Given the description of an element on the screen output the (x, y) to click on. 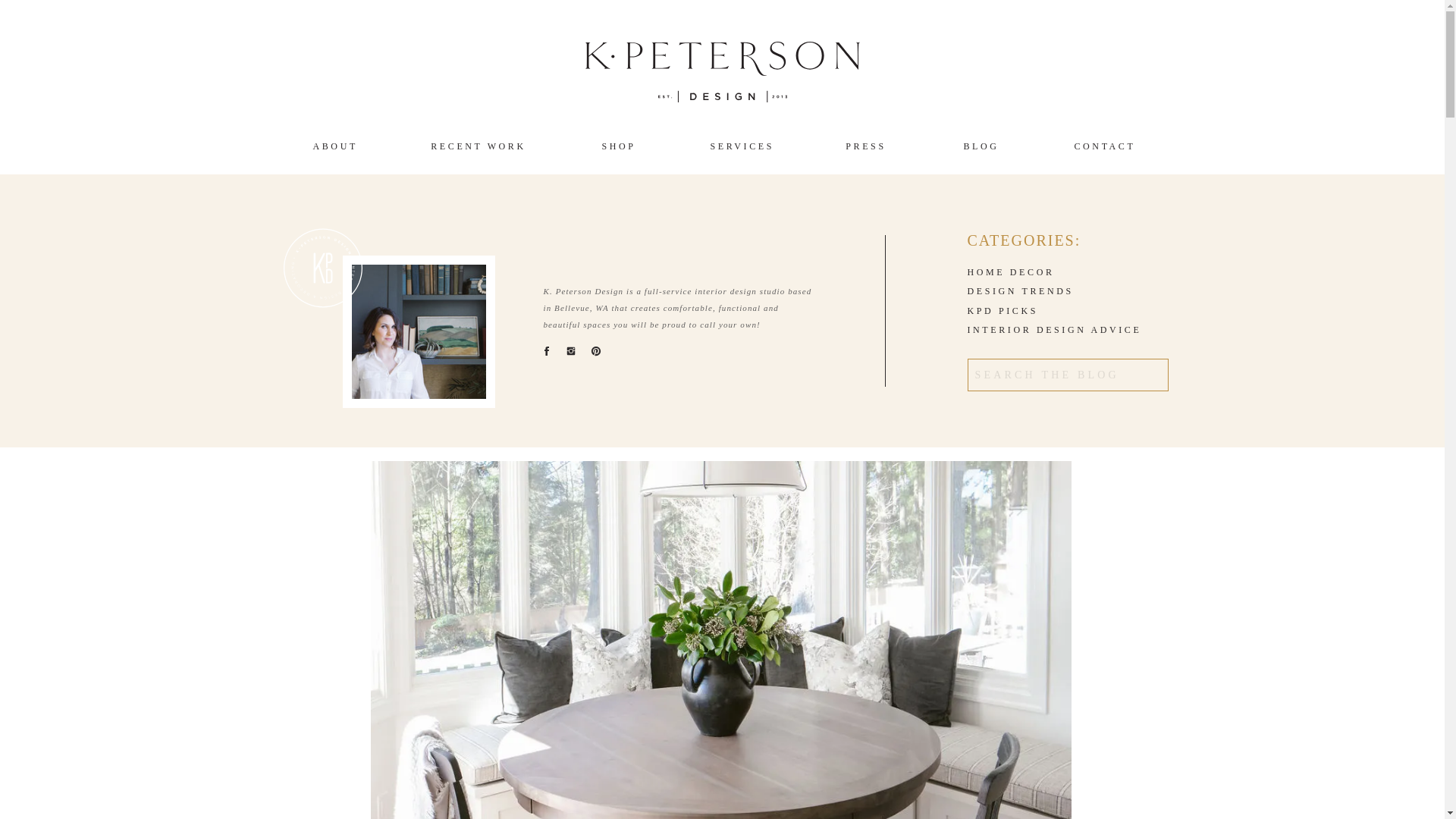
PRESS (866, 144)
SERVICES (739, 144)
ABOUT (333, 144)
BLOG (980, 143)
KPD PICKS (1024, 311)
DESIGN TRENDS (1024, 291)
HOME DECOR (1024, 272)
SHOP (618, 144)
CONTACT (1103, 143)
INTERIOR DESIGN ADVICE (1062, 330)
RECENT WORK (478, 143)
